Given the description of an element on the screen output the (x, y) to click on. 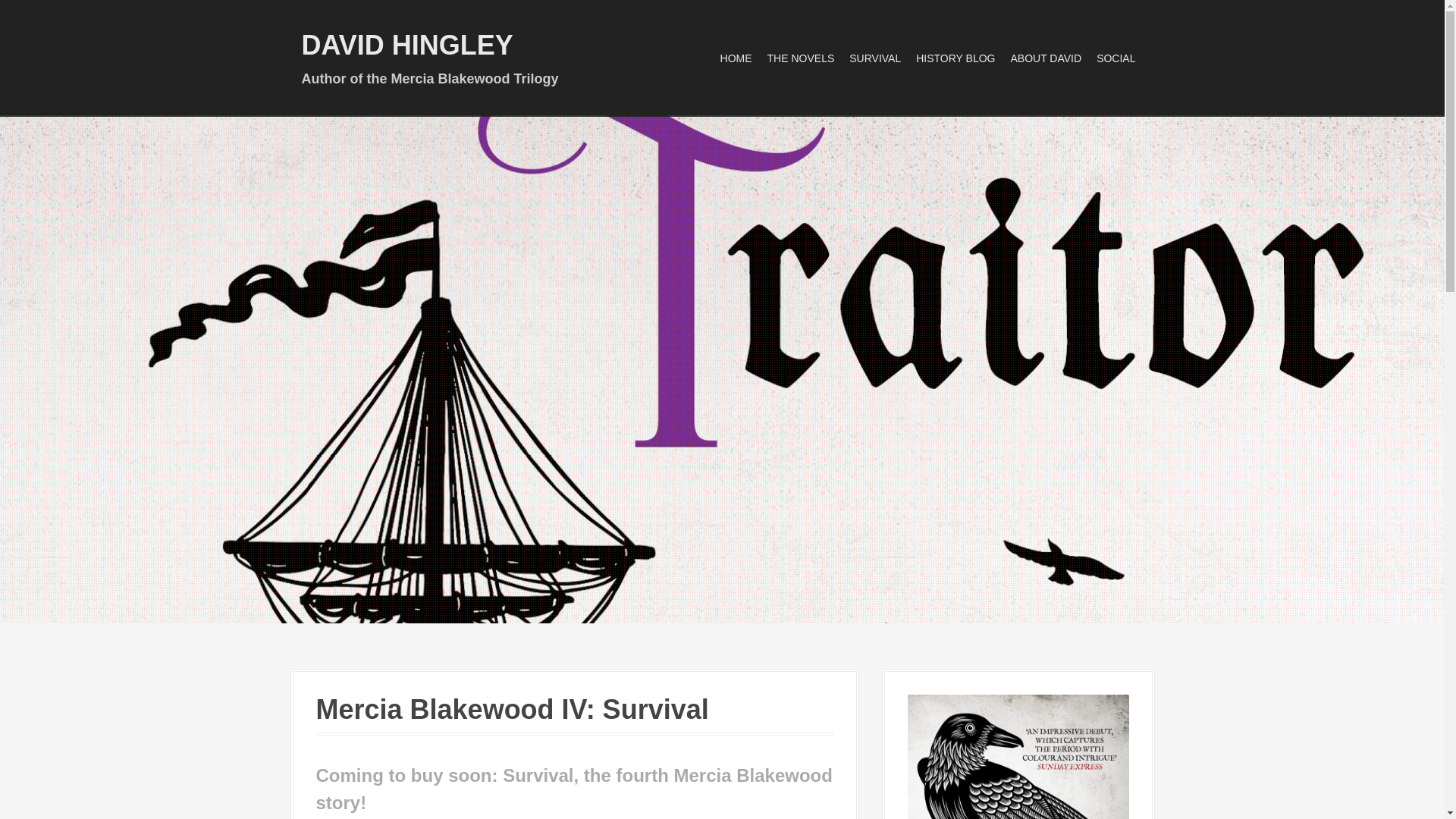
HOME (736, 58)
THE NOVELS (800, 58)
SURVIVAL (874, 58)
HISTORY BLOG (954, 58)
SOCIAL (1115, 58)
DAVID HINGLEY (407, 44)
ABOUT DAVID (1045, 58)
